Given the description of an element on the screen output the (x, y) to click on. 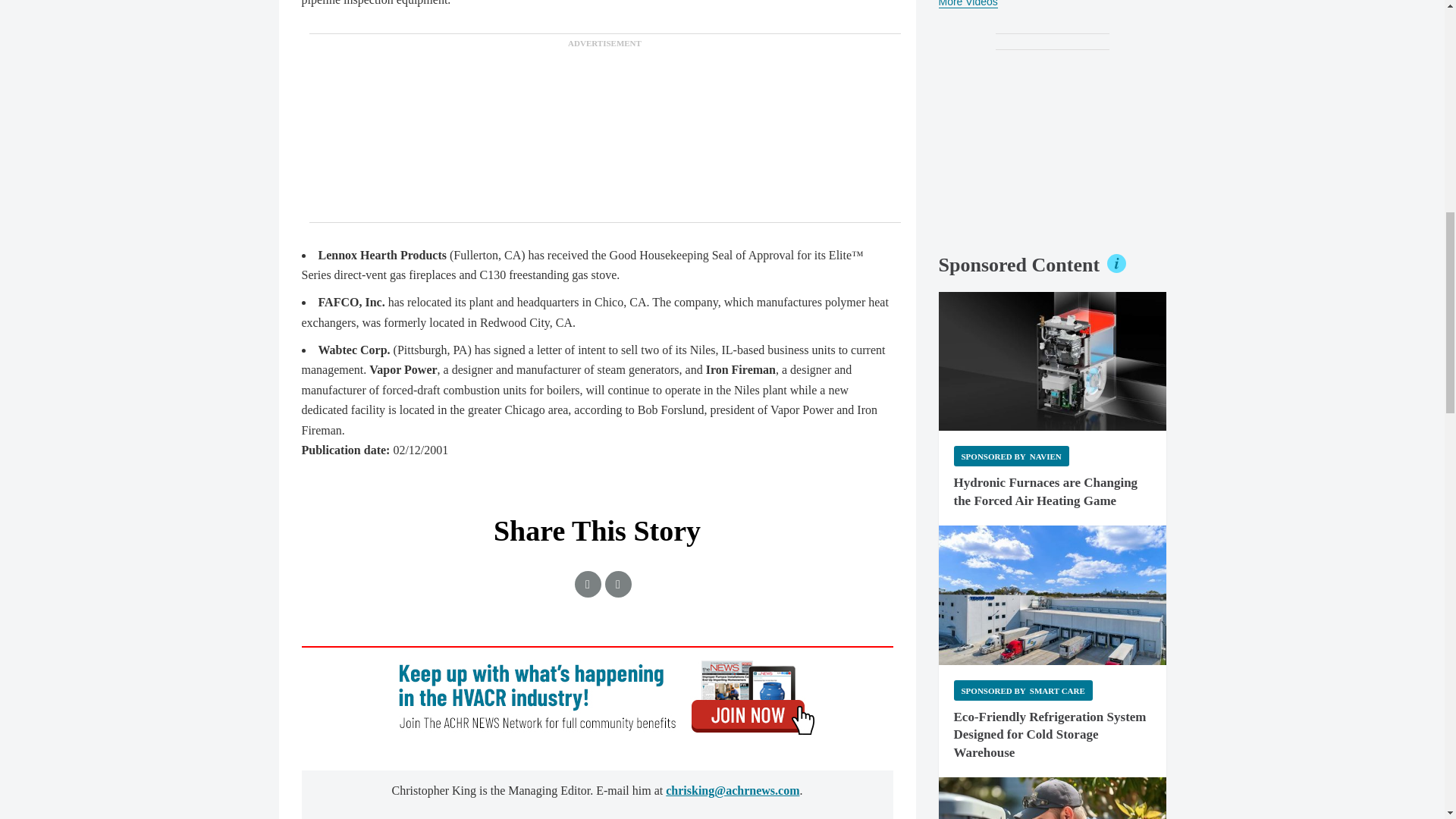
Hydronic Forced Air Furnace Diagram (1052, 361)
Sponsored by Navien (1010, 455)
Technician Working on HVAC Unit (1052, 798)
Texas Frio Cold Storage (1052, 595)
Sponsored by Smart Care (1023, 690)
